Given the description of an element on the screen output the (x, y) to click on. 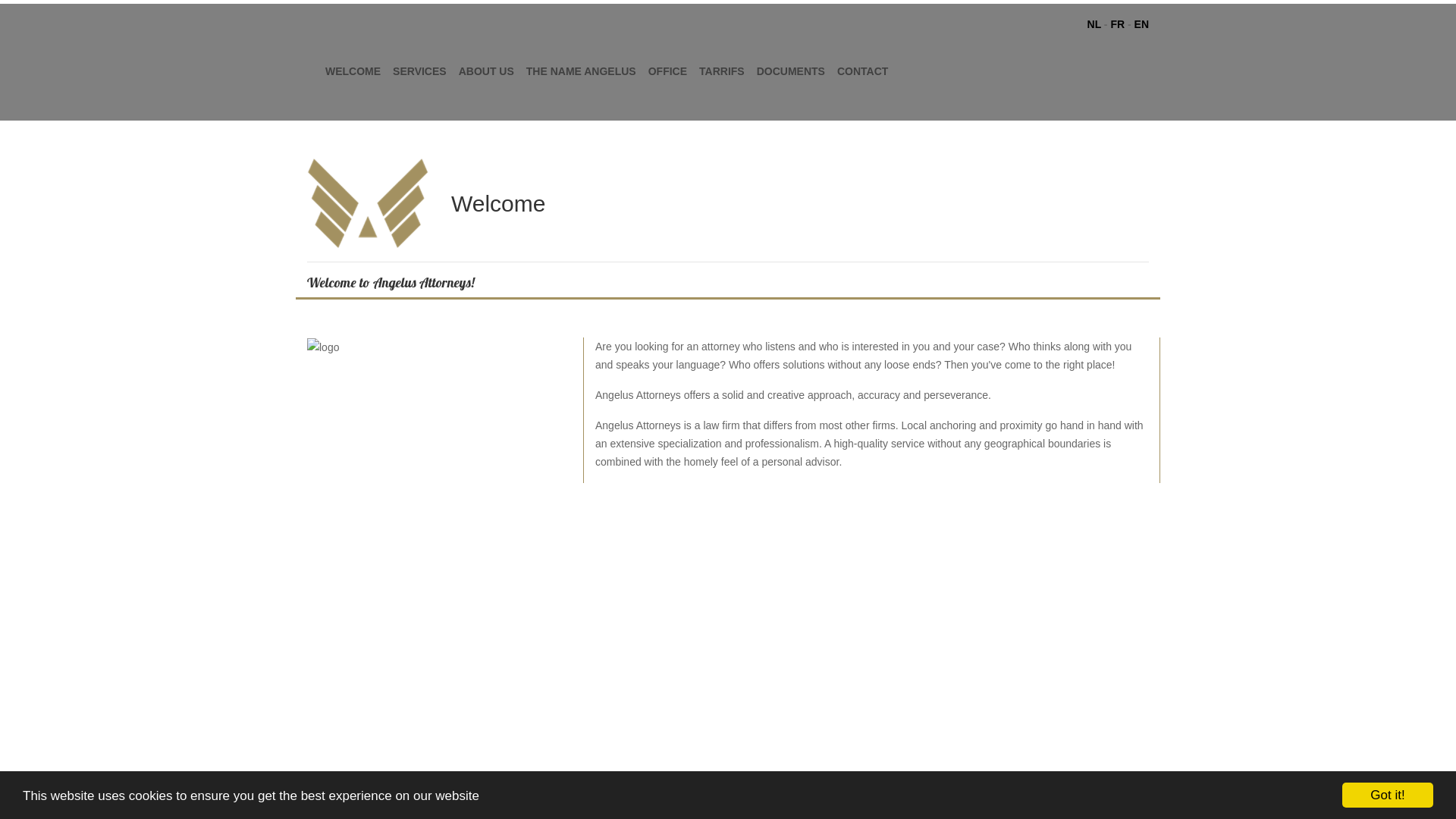
NL Element type: text (1094, 24)
TARRIFS Element type: text (721, 71)
SERVICES Element type: text (419, 71)
WELCOME Element type: text (352, 71)
OFFICE Element type: text (667, 71)
CONTACT Element type: text (862, 71)
ABOUT US Element type: text (486, 71)
FR Element type: text (1117, 24)
www.pure-y.be Element type: text (795, 790)
Got it! Element type: text (1387, 794)
DOCUMENTS Element type: text (790, 71)
Admin Element type: text (929, 790)
EN Element type: text (1141, 24)
THE NAME ANGELUS Element type: text (581, 71)
